Given the description of an element on the screen output the (x, y) to click on. 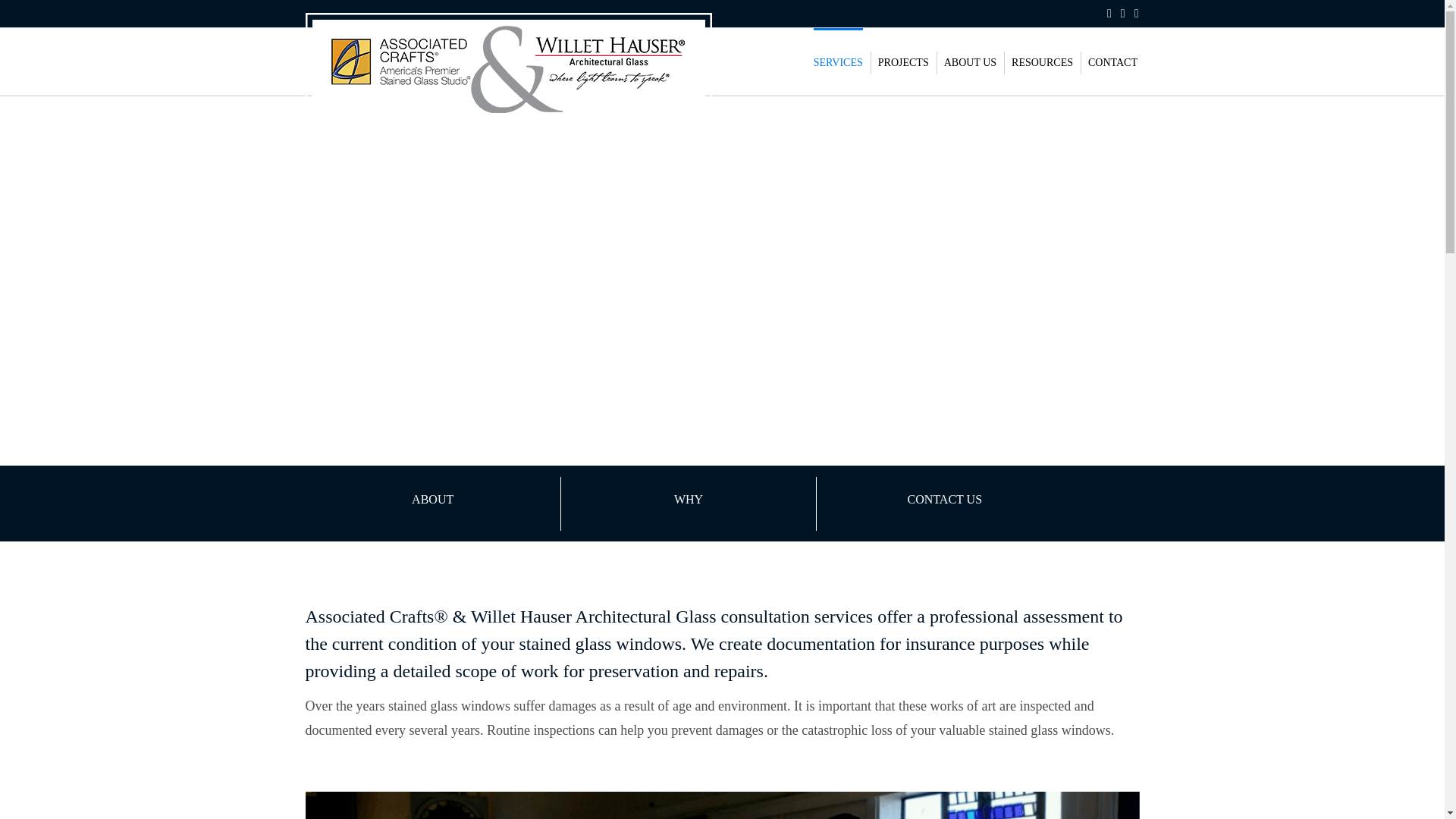
RESOURCES (1041, 61)
